Given the description of an element on the screen output the (x, y) to click on. 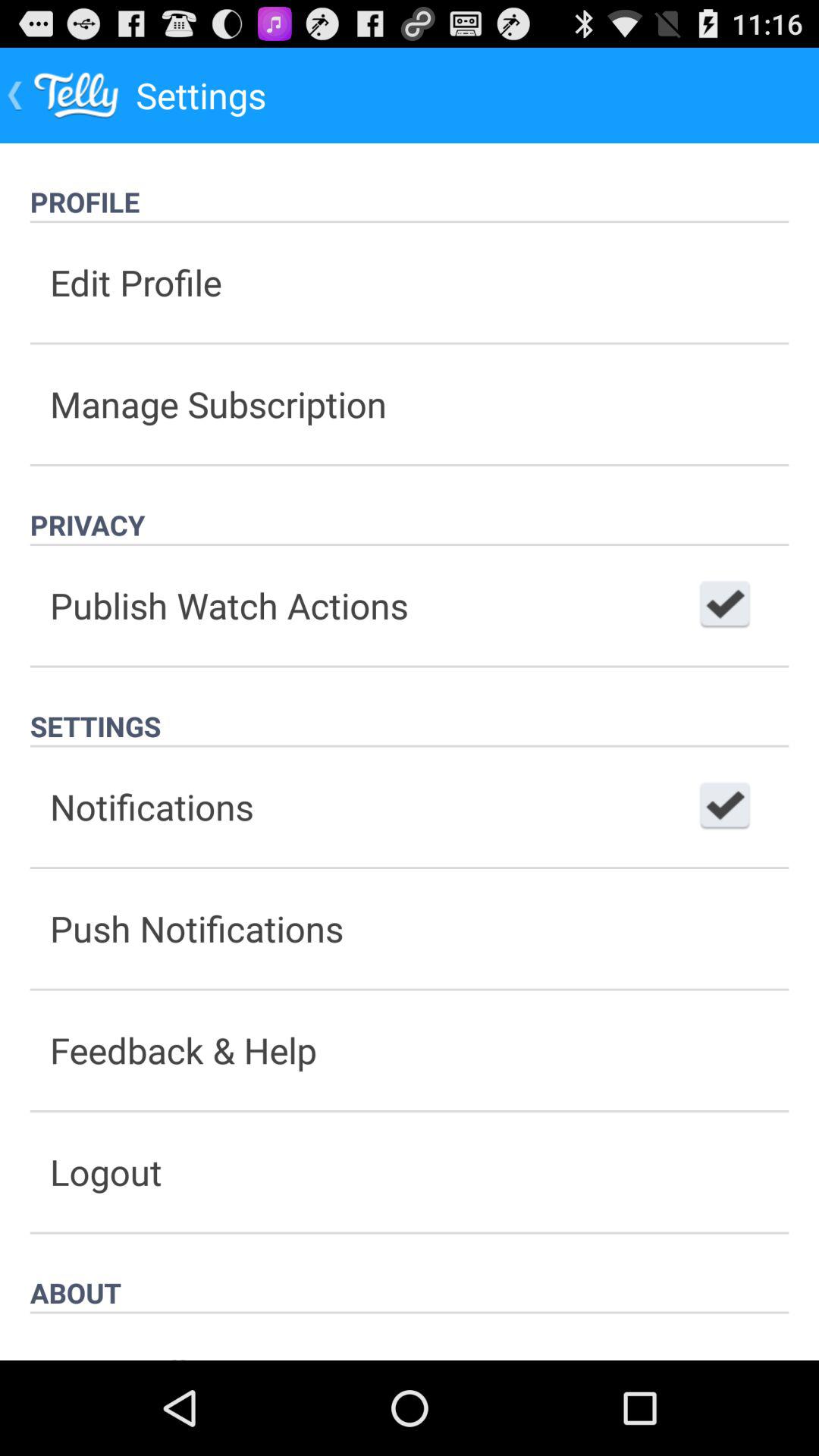
turn on the button above the manage subscription (409, 282)
